Given the description of an element on the screen output the (x, y) to click on. 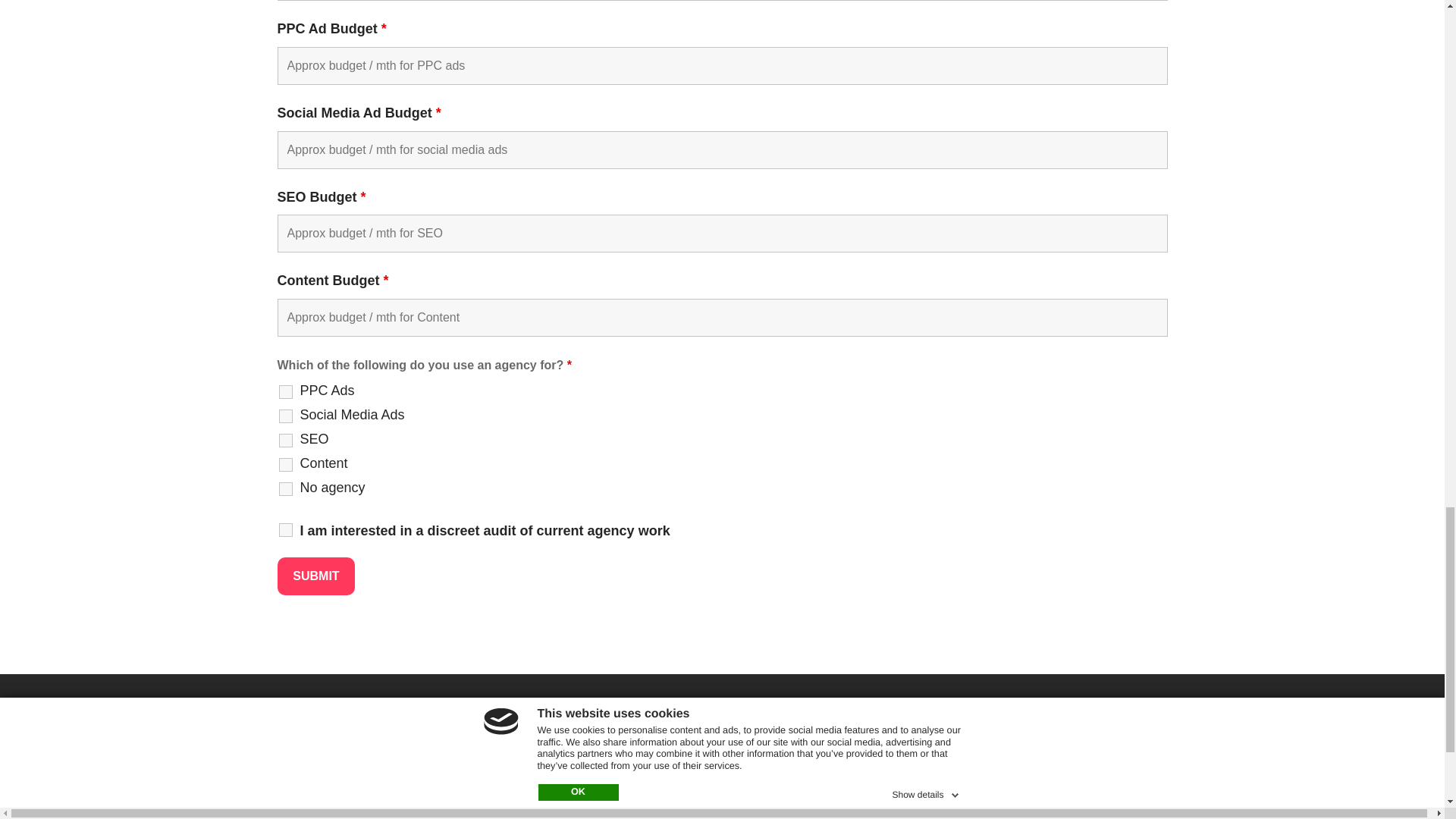
Submit (316, 576)
